Given the description of an element on the screen output the (x, y) to click on. 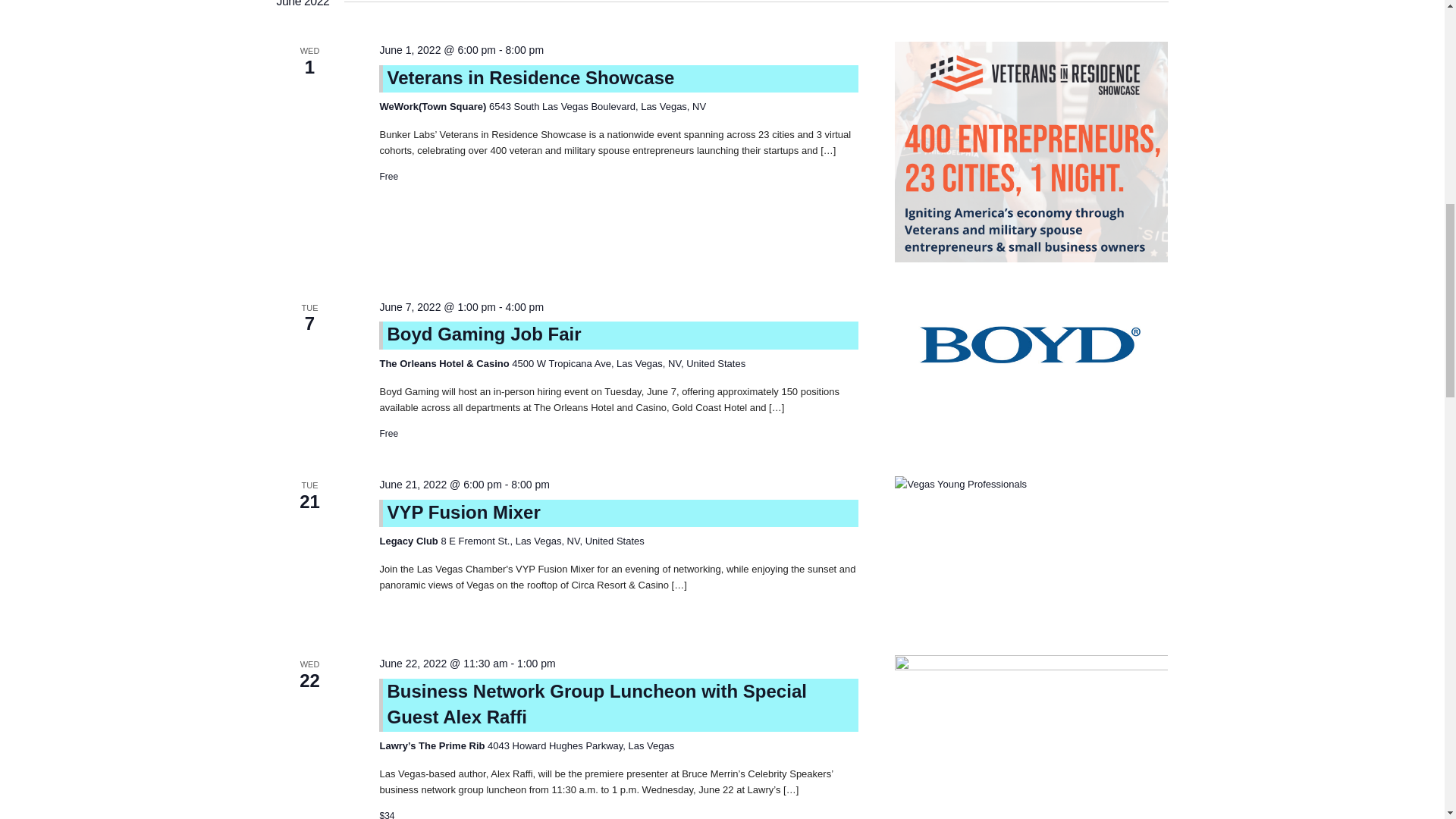
Boyd Gaming Job Fair (1031, 343)
VYP Fusion Mixer (1031, 547)
Veterans in Residence Showcase (1031, 151)
Boyd Gaming Job Fair (483, 333)
Veterans in Residence Showcase (530, 77)
VYP Fusion Mixer (463, 512)
